Given the description of an element on the screen output the (x, y) to click on. 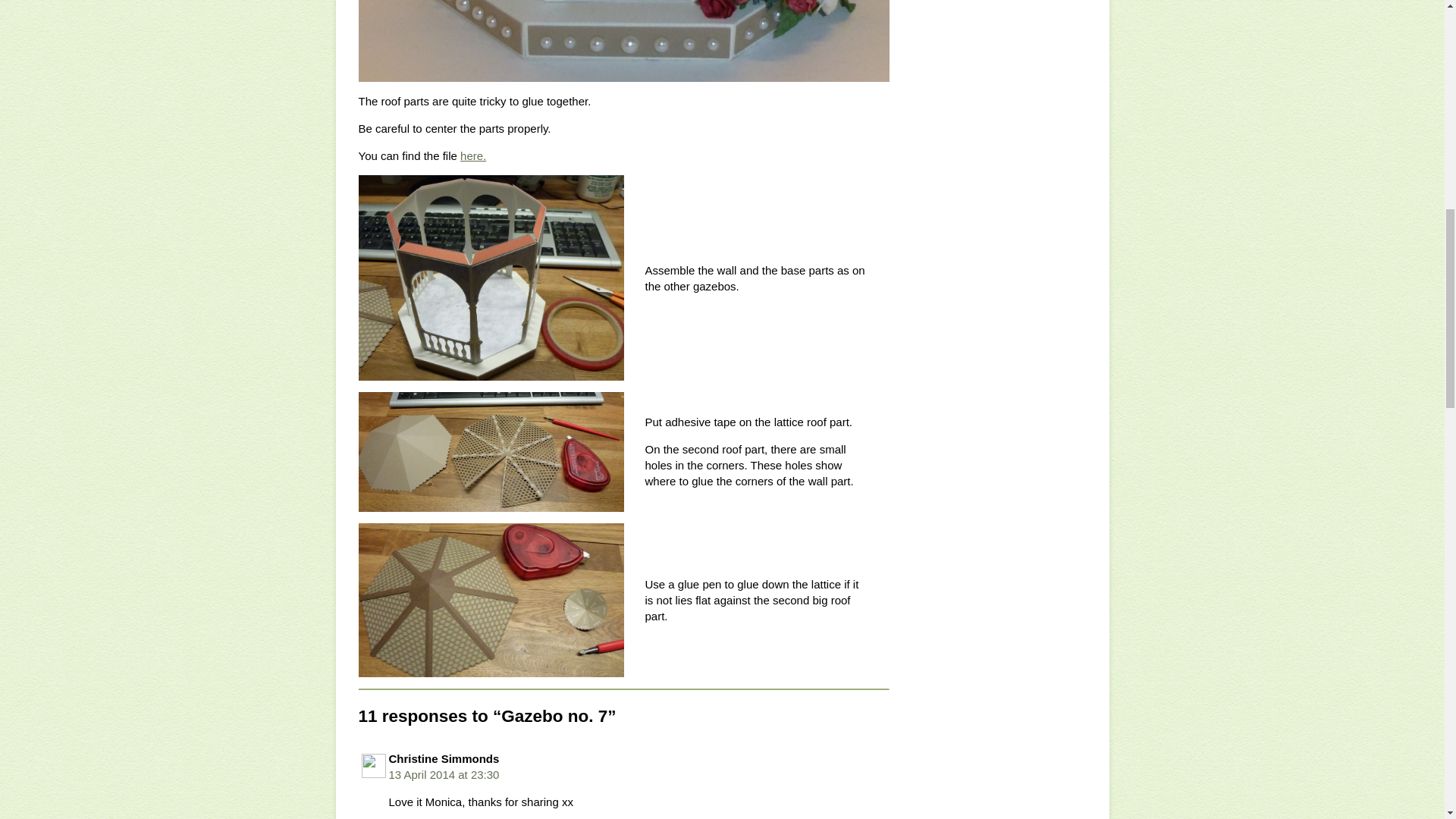
13 April 2014 at 23:30 (443, 774)
here. (473, 155)
